Given the description of an element on the screen output the (x, y) to click on. 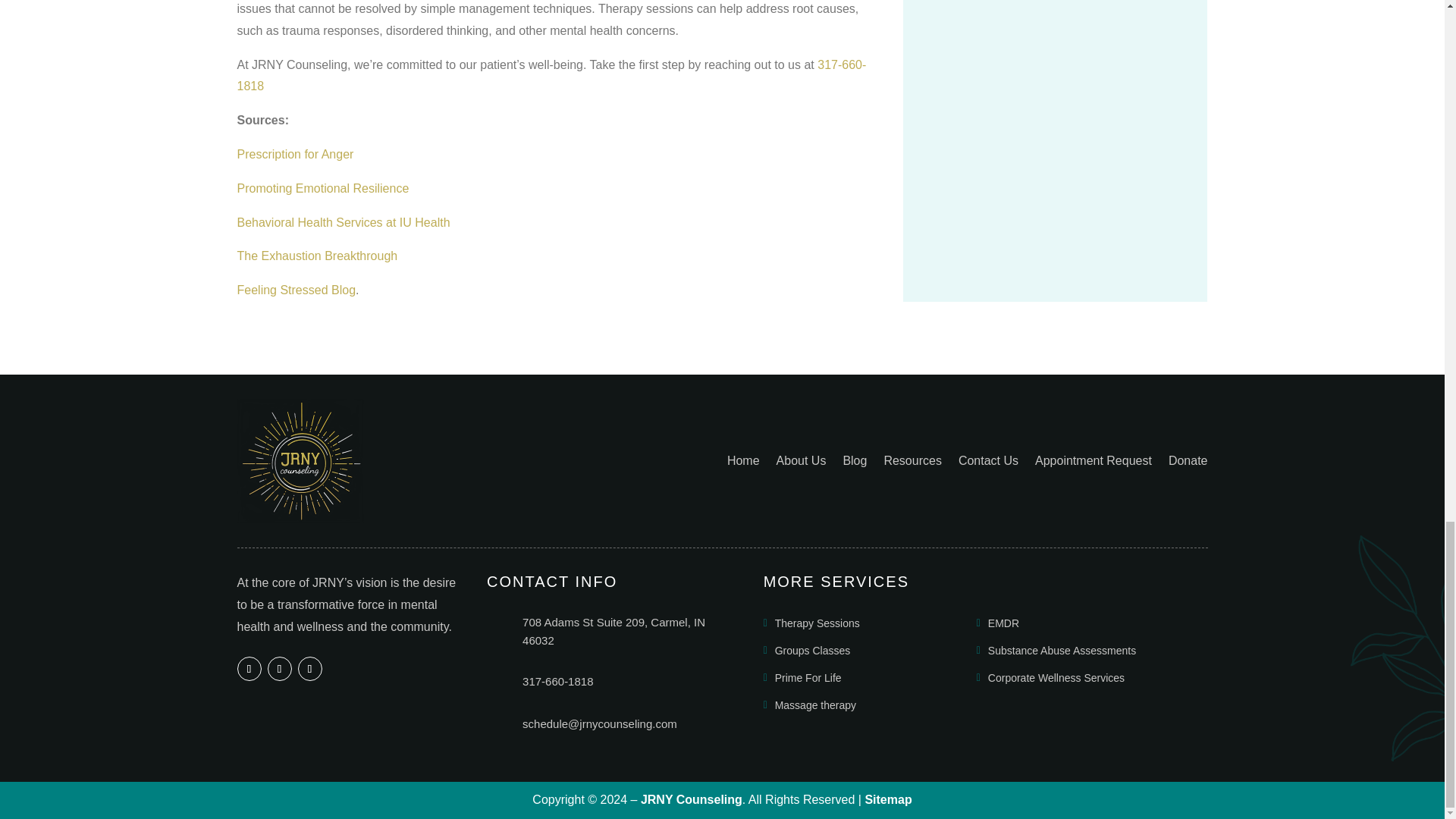
Follow on Youtube (309, 668)
Follow on Instagram (278, 668)
Follow on Facebook (247, 668)
